Given the description of an element on the screen output the (x, y) to click on. 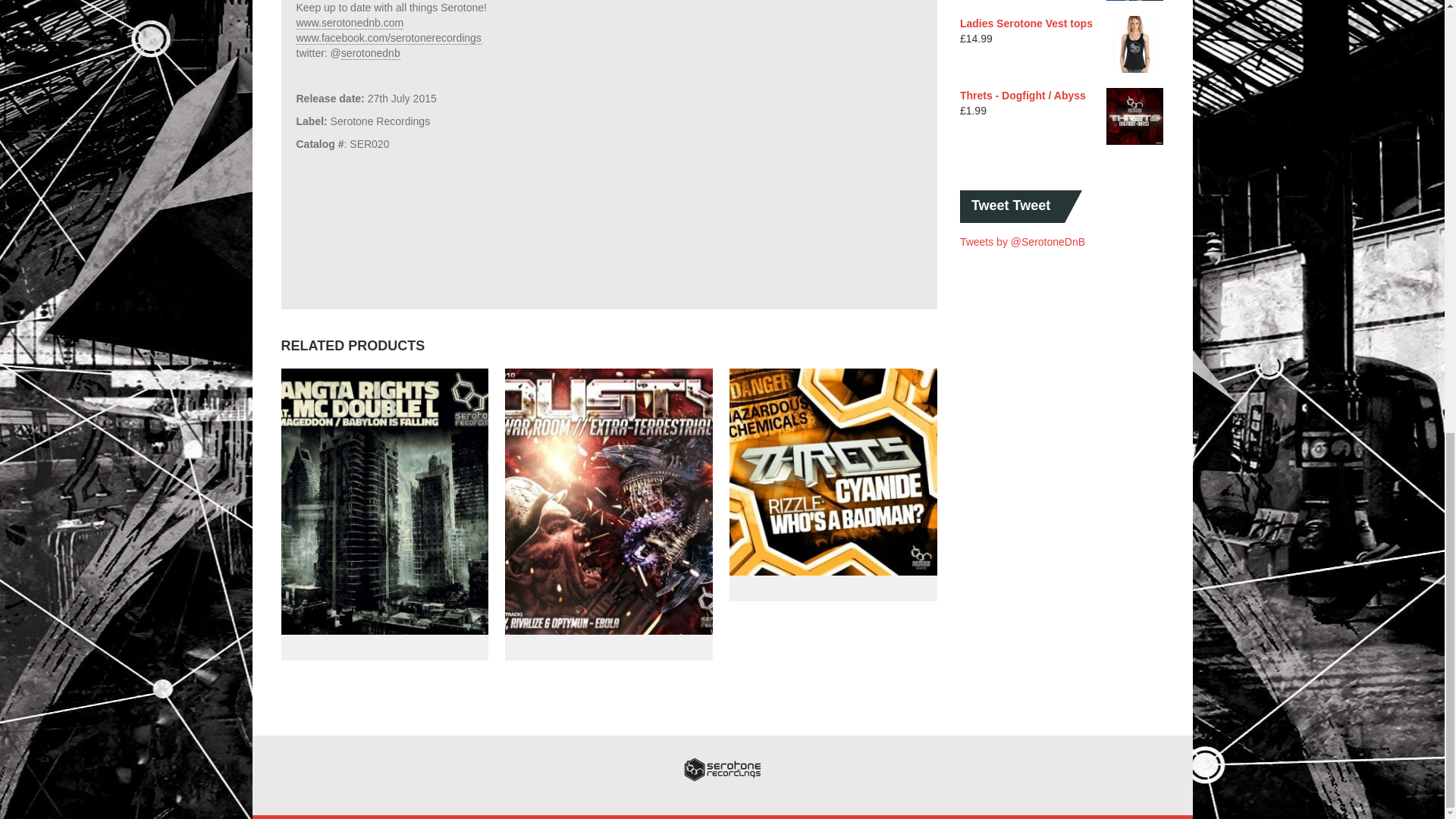
www.serotonednb.com (349, 22)
